Given the description of an element on the screen output the (x, y) to click on. 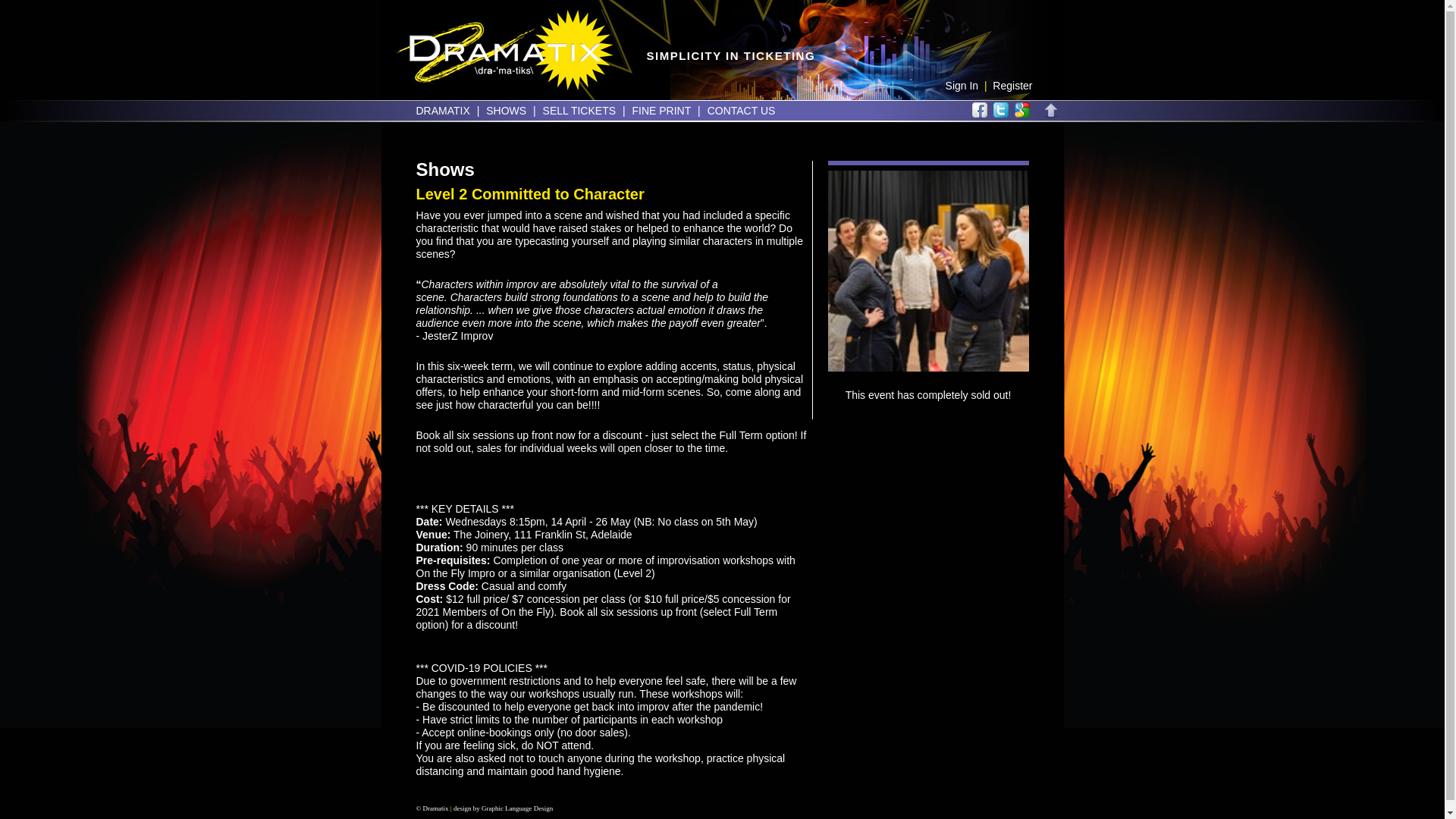
Register Element type: text (1012, 85)
SHOWS Element type: text (506, 110)
CONTACT US Element type: text (741, 110)
Sign In Element type: text (962, 85)
DRAMATIX Element type: text (442, 110)
FINE PRINT Element type: text (660, 110)
SELL TICKETS Element type: text (579, 110)
